Given the description of an element on the screen output the (x, y) to click on. 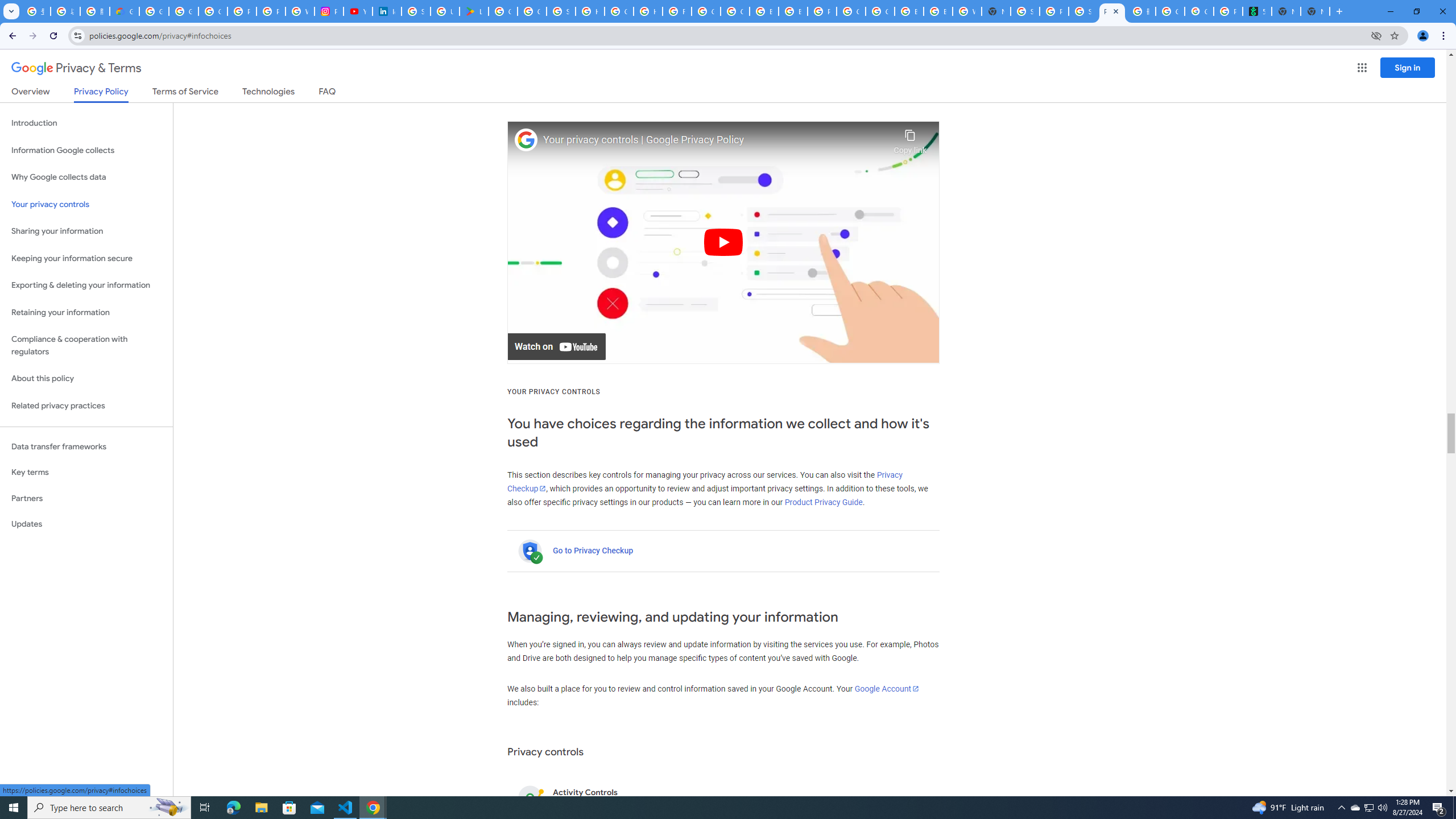
YouTube Culture & Trends - On The Rise: Handcam Videos (357, 11)
About this policy (86, 379)
Watch on YouTube (556, 346)
Browse Chrome as a guest - Computer - Google Chrome Help (792, 11)
Information Google collects (86, 150)
Sign in - Google Accounts (1025, 11)
Why Google collects data (86, 176)
